Given the description of an element on the screen output the (x, y) to click on. 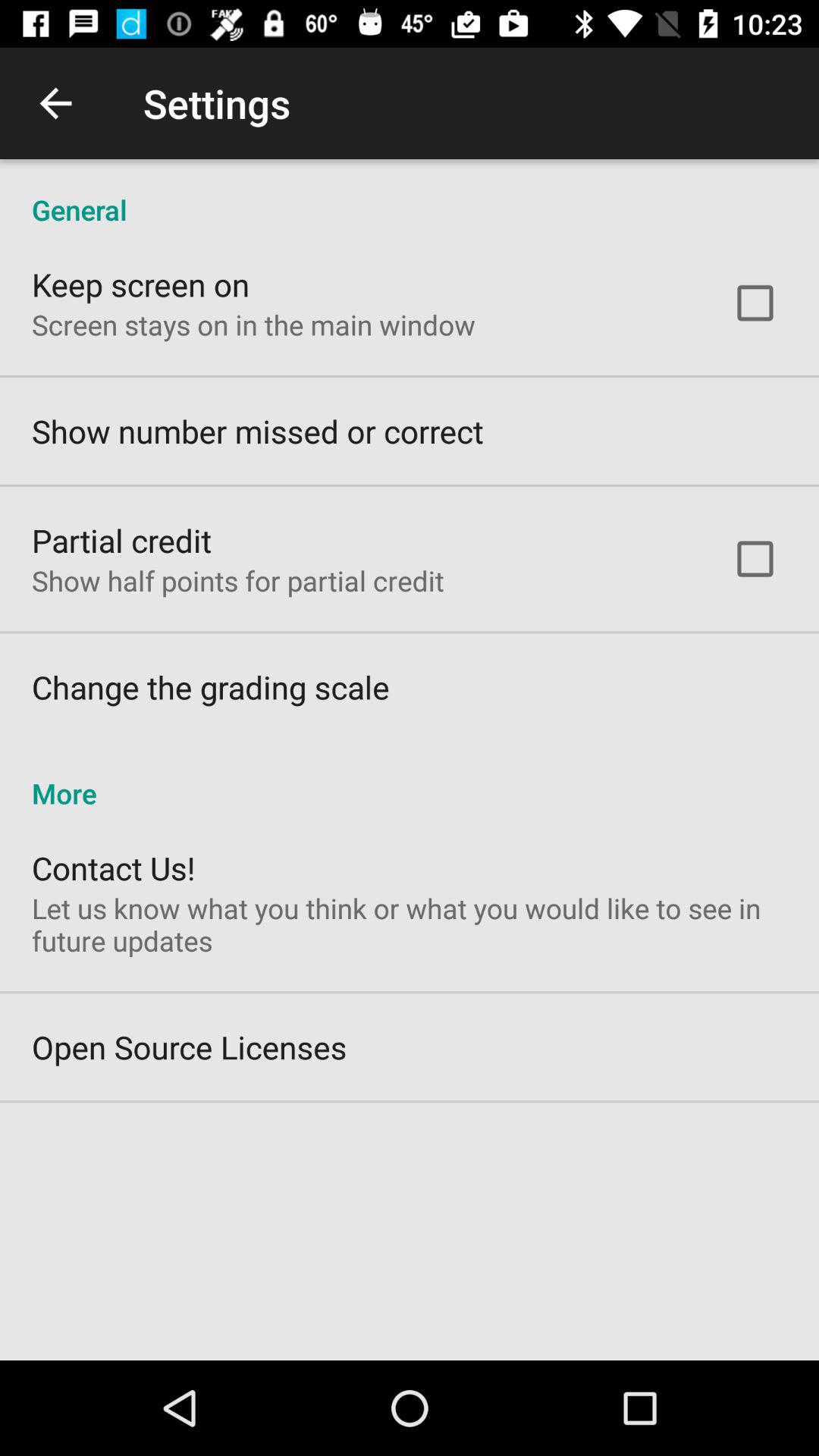
tap the icon above let us know icon (113, 867)
